Given the description of an element on the screen output the (x, y) to click on. 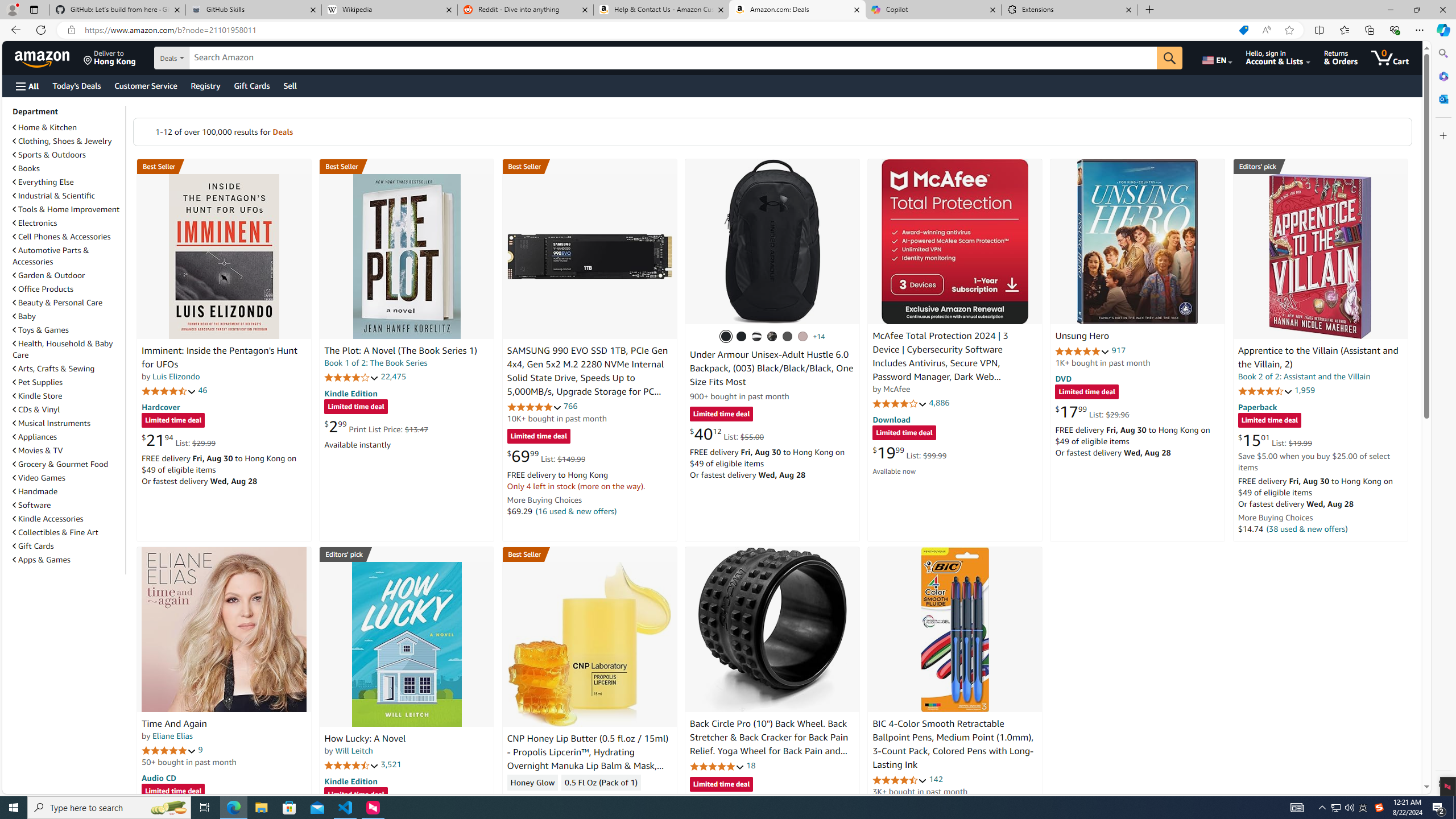
$2.99 Print List Price: $13.47 (376, 426)
Arts, Crafts & Sewing (67, 368)
(015) Tetra Gray / Tetra Gray / Gray Matter (802, 336)
Home & Kitchen (45, 127)
Garden & Outdoor (49, 275)
Tools & Home Improvement (66, 208)
Choose a language for shopping. (1216, 57)
Kindle Accessories (67, 518)
Garden & Outdoor (67, 274)
The Plot: A Novel (The Book Series 1) (406, 256)
$21.94 List: $29.99 (178, 439)
CDs & Vinyl (36, 409)
Beauty & Personal Care (67, 301)
Best Seller in Unexplained Mysteries (223, 165)
